Given the description of an element on the screen output the (x, y) to click on. 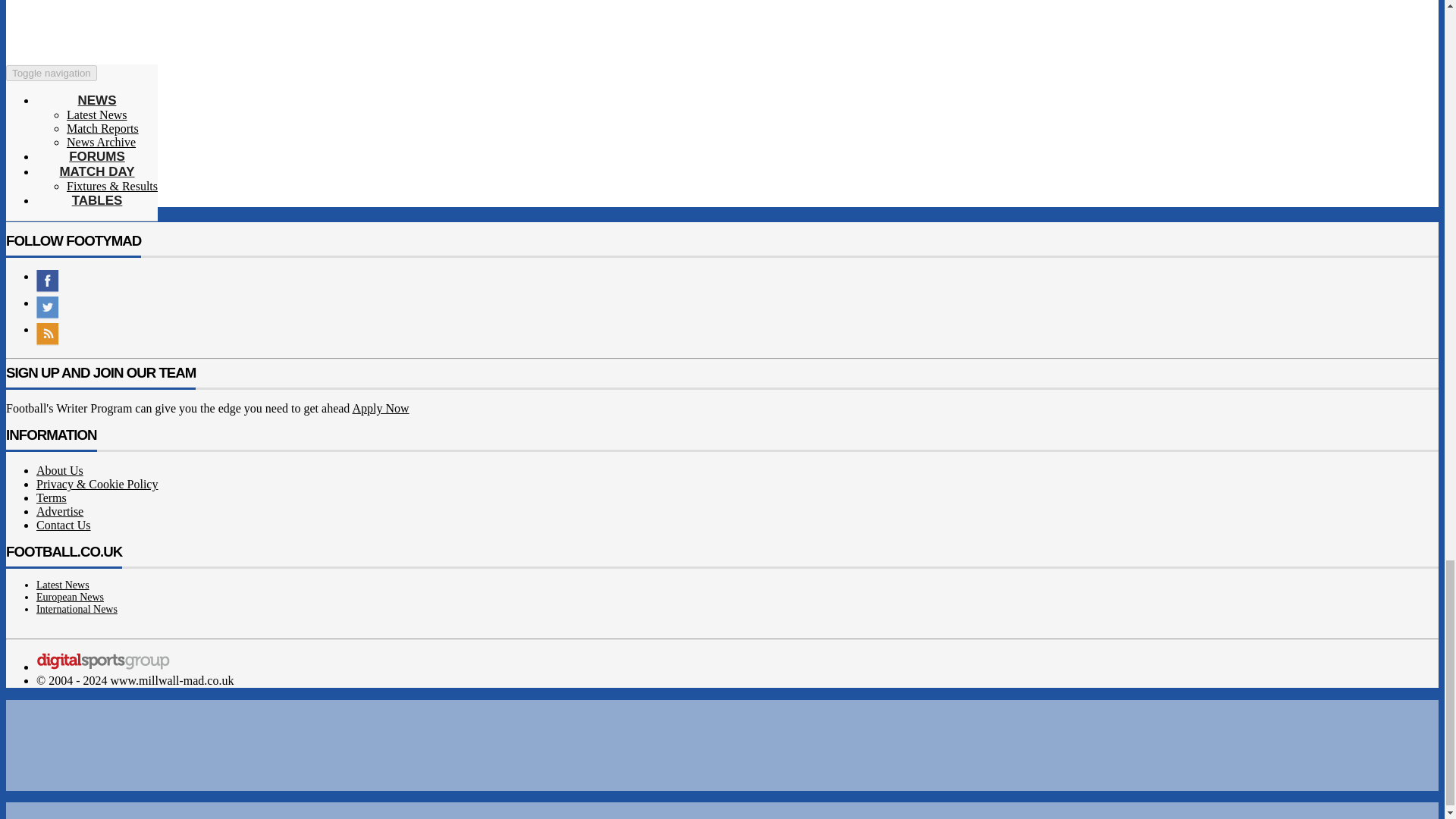
Contact us (63, 524)
footymad.net Terms and Conditions (51, 497)
About us (59, 470)
Advertise on footymad.net (59, 511)
